Given the description of an element on the screen output the (x, y) to click on. 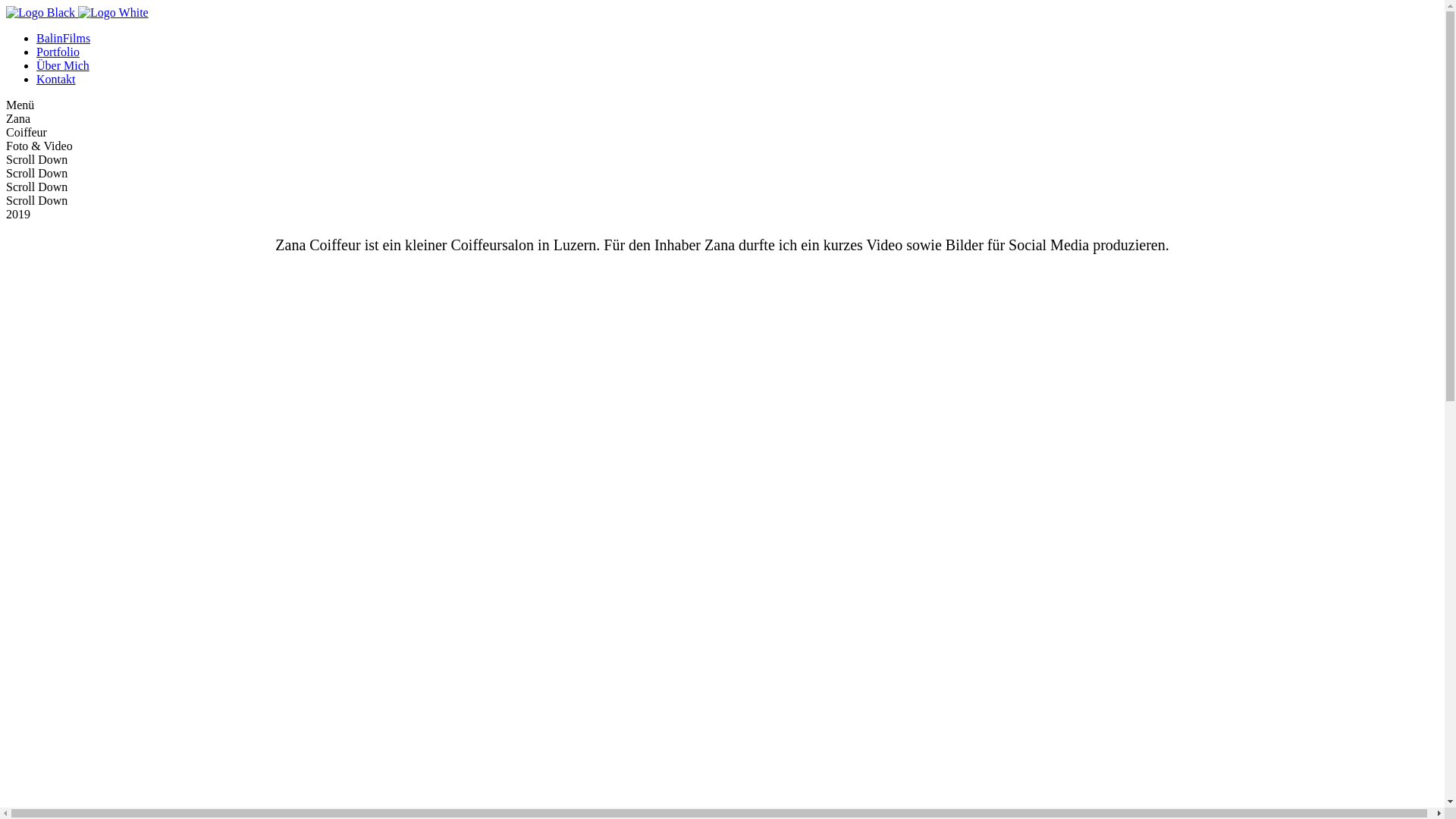
BalinFilms Element type: text (63, 37)
Portfolio Element type: text (57, 51)
Kontakt Element type: text (55, 78)
